Given the description of an element on the screen output the (x, y) to click on. 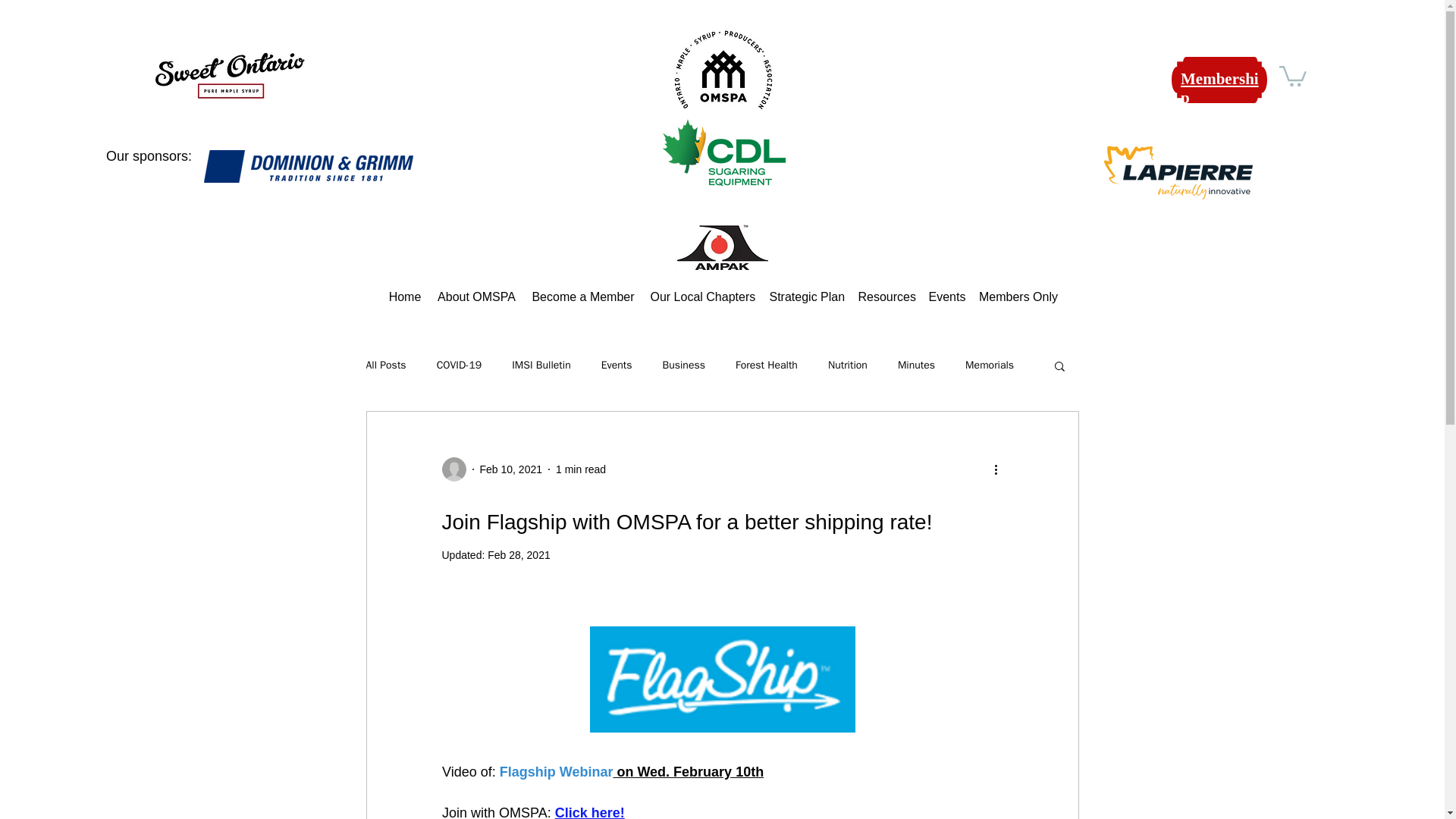
Resources (885, 296)
Home (404, 296)
Become a Member (582, 296)
Membership (1219, 87)
About OMSPA (475, 296)
Strategic Plan (805, 296)
Our Local Chapters (702, 296)
1 min read (580, 468)
LAPIERREENG.png (1109, 250)
Feb 28, 2021 (518, 554)
Feb 10, 2021 (510, 468)
